Given the description of an element on the screen output the (x, y) to click on. 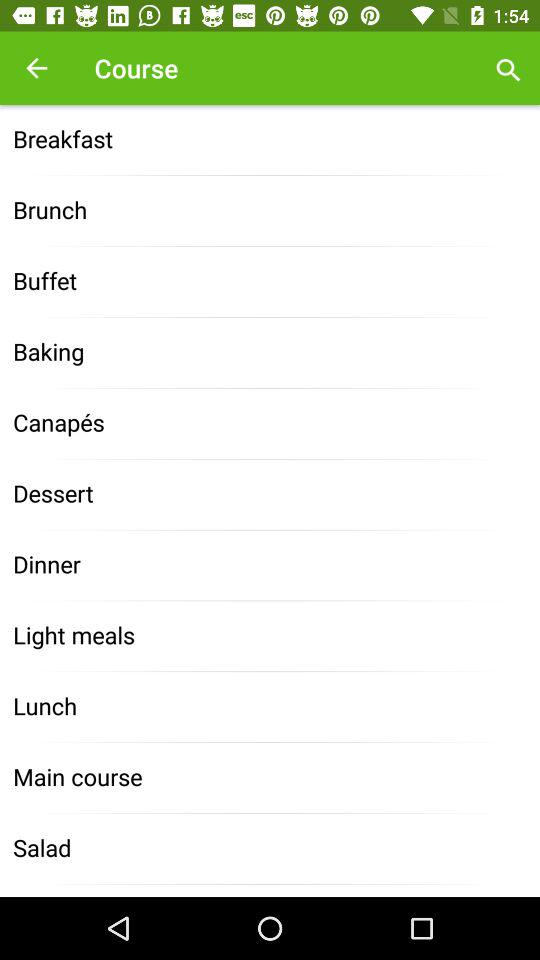
open item below the salad item (270, 890)
